Given the description of an element on the screen output the (x, y) to click on. 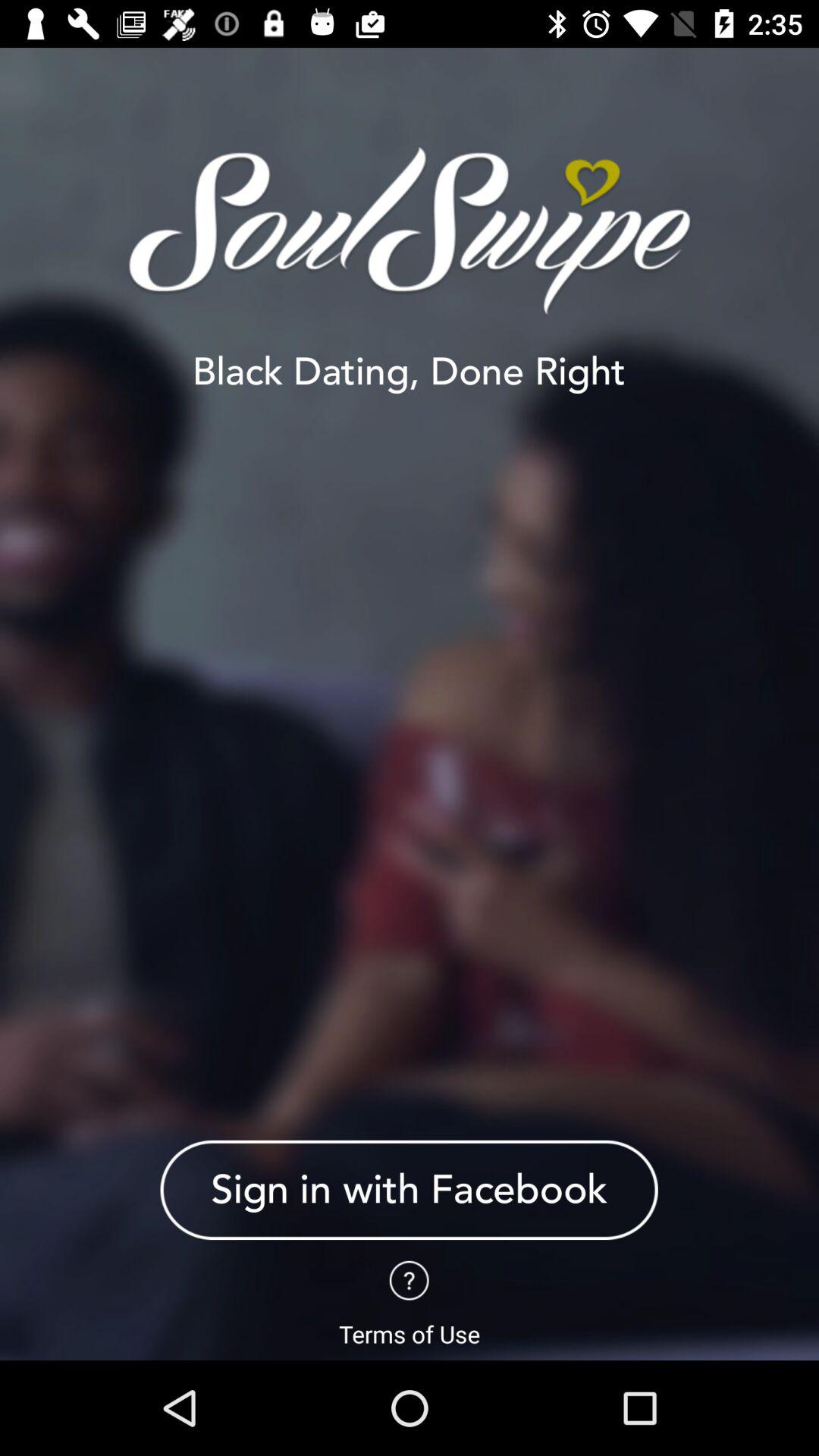
it helps to find terms of use (409, 1280)
